Given the description of an element on the screen output the (x, y) to click on. 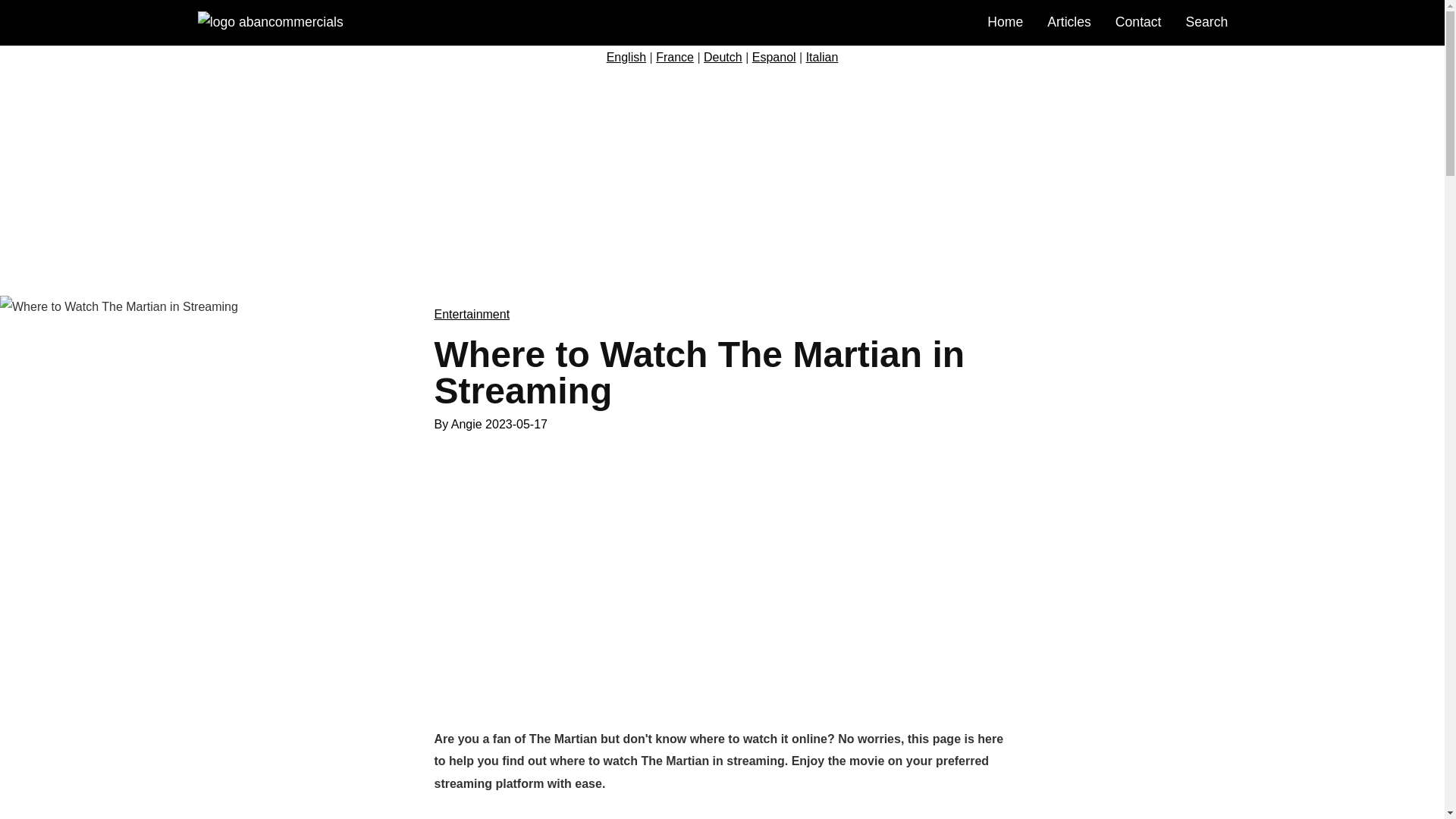
Deutch (722, 56)
English (626, 56)
Italian (822, 56)
France (675, 56)
Home (1005, 21)
Contact (1138, 21)
Entertainment (471, 314)
Articles (1068, 21)
Search (1207, 21)
Espanol (774, 56)
